Given the description of an element on the screen output the (x, y) to click on. 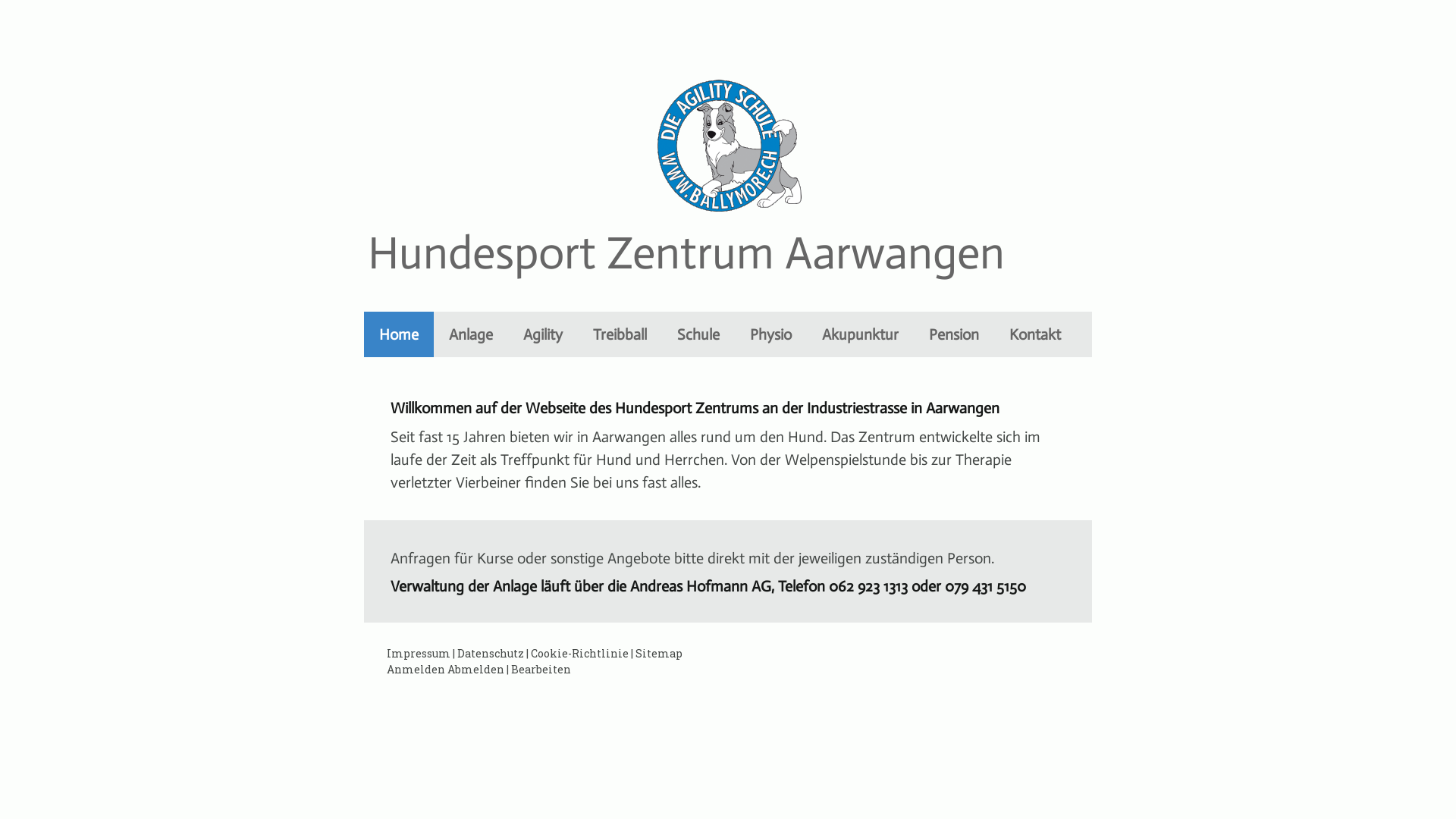
Pension Element type: text (953, 334)
Bearbeiten Element type: text (541, 669)
Physio Element type: text (770, 334)
Datenschutz Element type: text (490, 653)
Hundesport Zentrum Aarwangen Element type: text (685, 263)
Impressum Element type: text (418, 653)
Anlage Element type: text (470, 334)
Abmelden Element type: text (476, 669)
Agility Element type: text (542, 334)
Anmelden Element type: text (415, 669)
Akupunktur Element type: text (859, 334)
Treibball Element type: text (619, 334)
Home Element type: text (398, 334)
Kontakt Element type: text (1035, 334)
Cookie-Richtlinie Element type: text (579, 653)
Schule Element type: text (698, 334)
Sitemap Element type: text (658, 653)
